Given the description of an element on the screen output the (x, y) to click on. 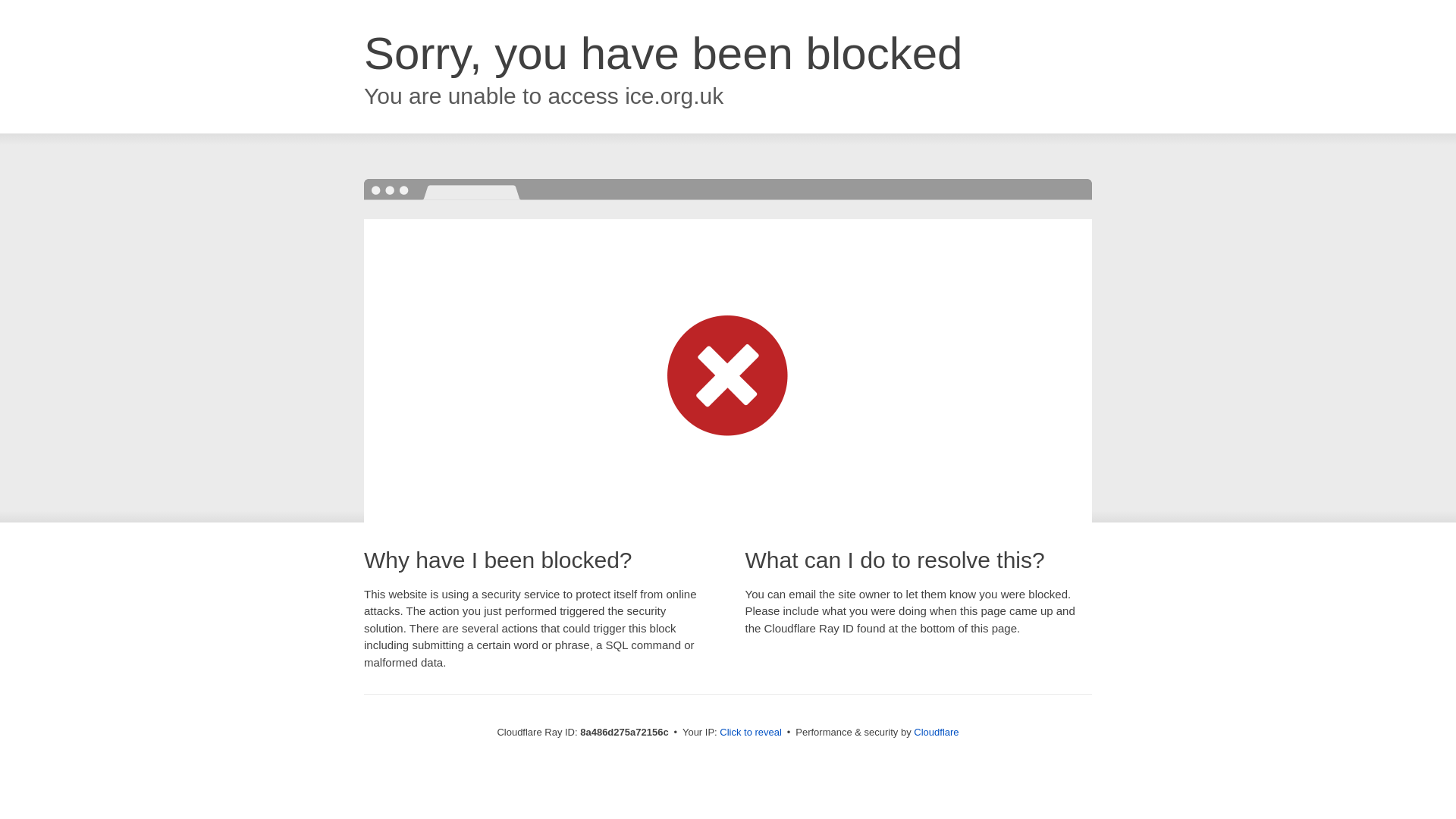
Click to reveal (750, 732)
Cloudflare (936, 731)
